Given the description of an element on the screen output the (x, y) to click on. 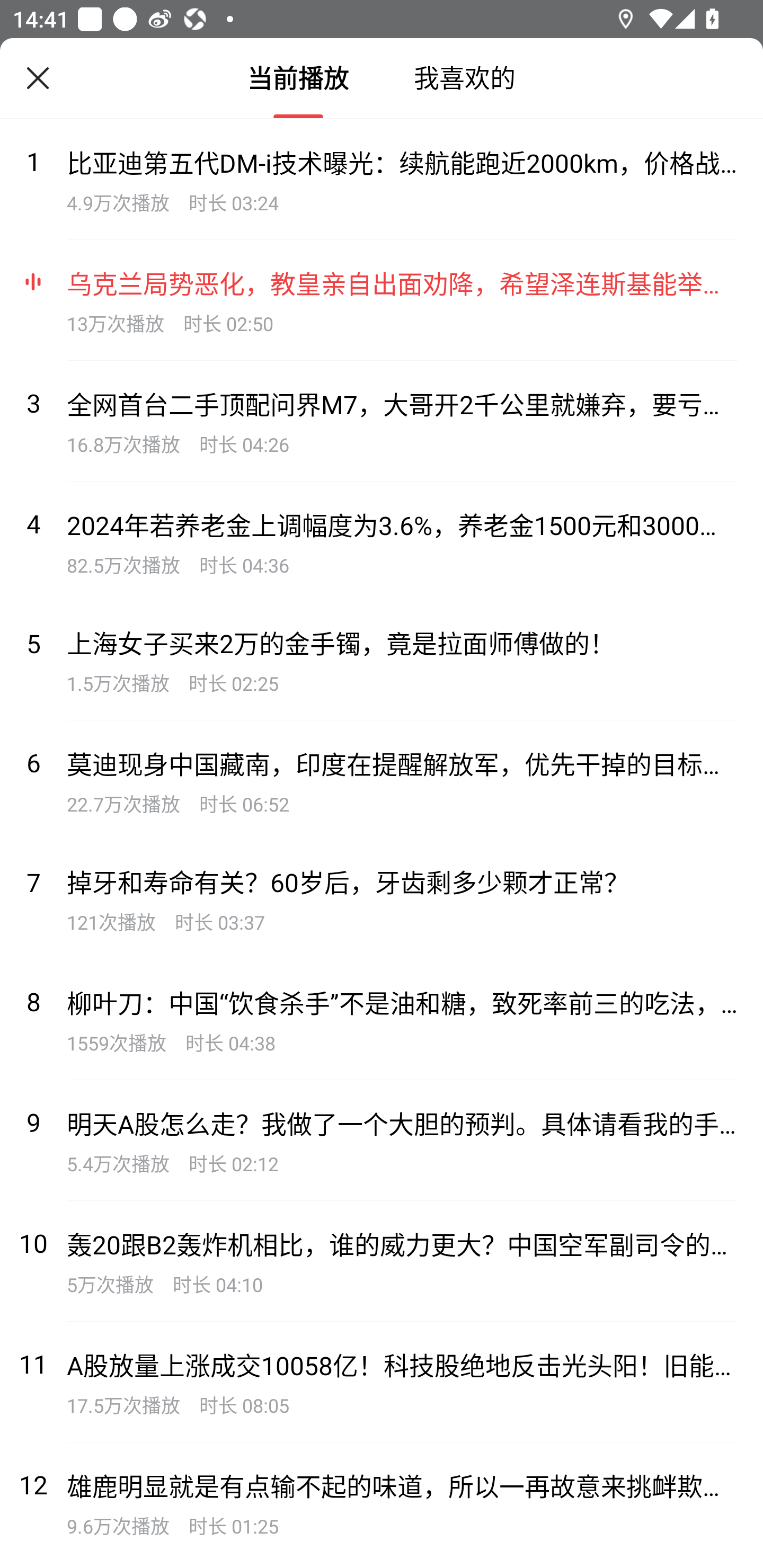
当前播放 (298, 78)
我喜欢的 (464, 78)
关闭列表 (38, 78)
